Given the description of an element on the screen output the (x, y) to click on. 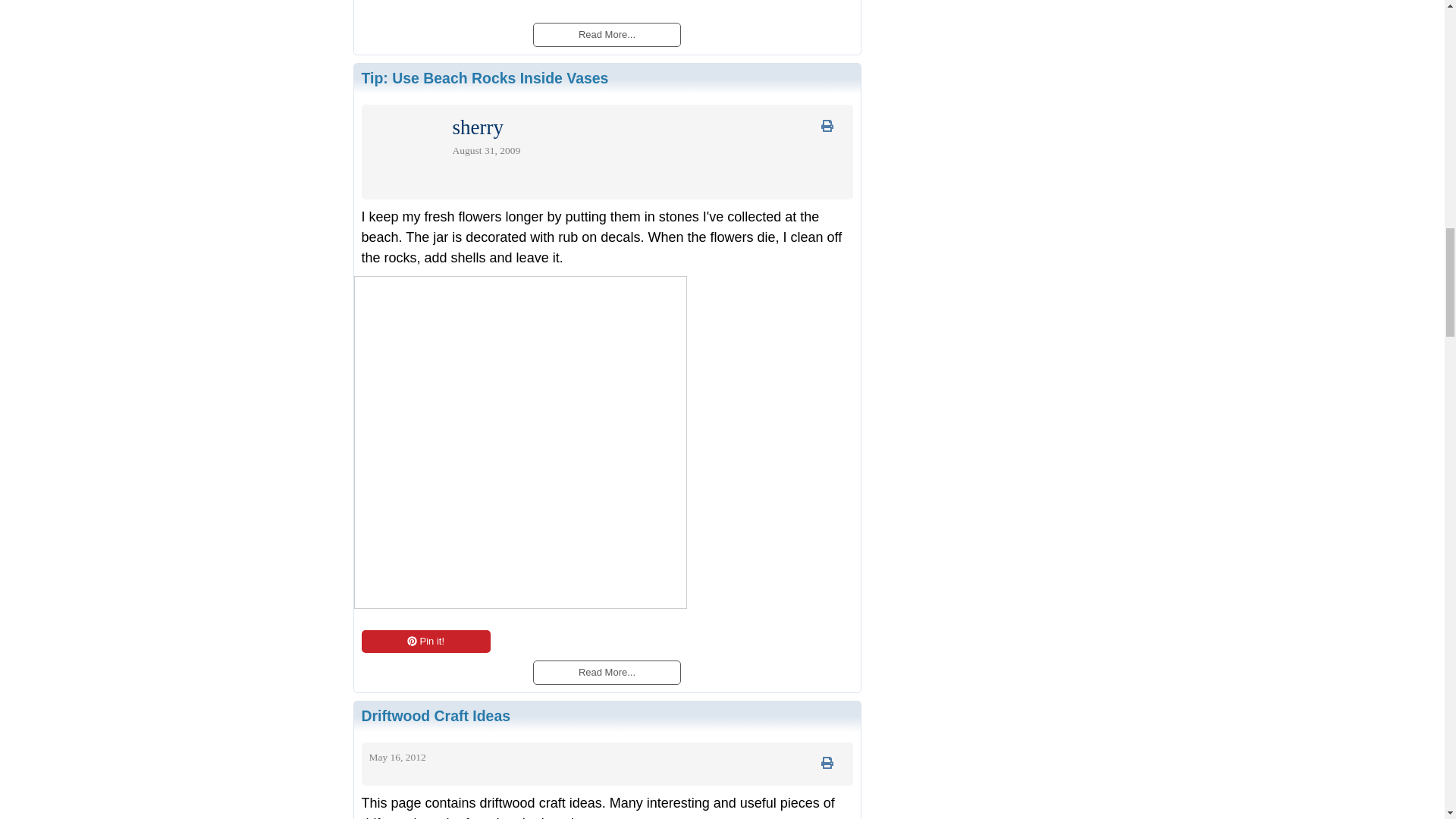
sherry (476, 130)
Tip: Use Beach Rocks Inside Vases (484, 77)
 Pin it! (425, 640)
Read More... (605, 33)
Read More... (605, 671)
Driftwood Craft Ideas (436, 715)
